Given the description of an element on the screen output the (x, y) to click on. 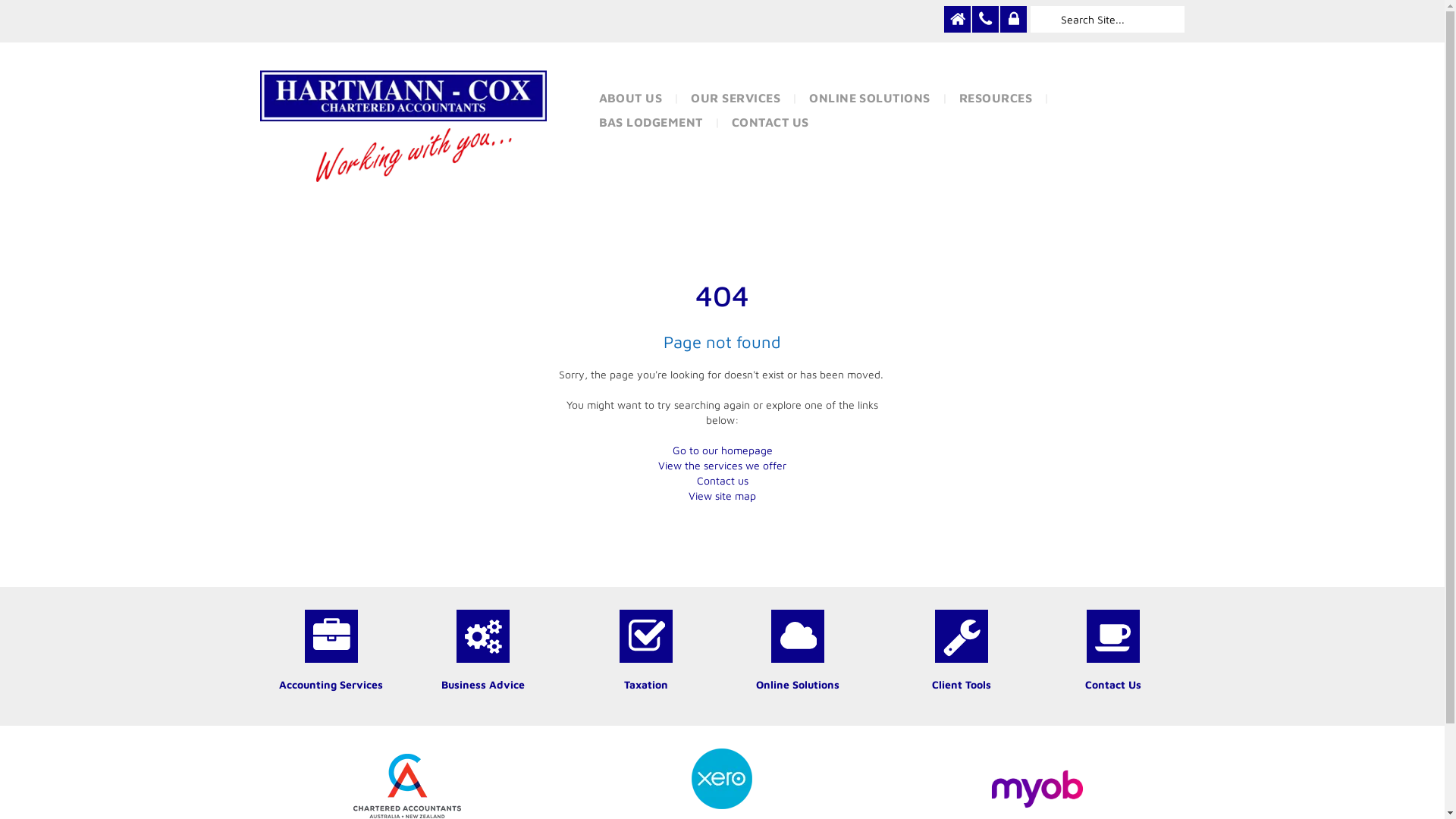
ONLINE SOLUTIONS Element type: text (869, 97)
Go to our homepage Element type: text (721, 449)
Business Advice Element type: text (482, 683)
View site map Element type: text (722, 495)
View the services we offer Element type: text (722, 464)
Contact Us Element type: text (1113, 683)
Contact us Element type: text (721, 479)
Client Tools Element type: text (961, 683)
BAS LODGEMENT Element type: text (649, 121)
Accounting Services Element type: text (330, 683)
RESOURCES Element type: text (995, 97)
contact_us Element type: text (985, 19)
home Element type: text (957, 19)
OUR SERVICES Element type: text (735, 97)
CONTACT US Element type: text (770, 121)
ABOUT US Element type: text (629, 97)
Taxation Element type: text (646, 683)
Online Solutions Element type: text (797, 683)
